Given the description of an element on the screen output the (x, y) to click on. 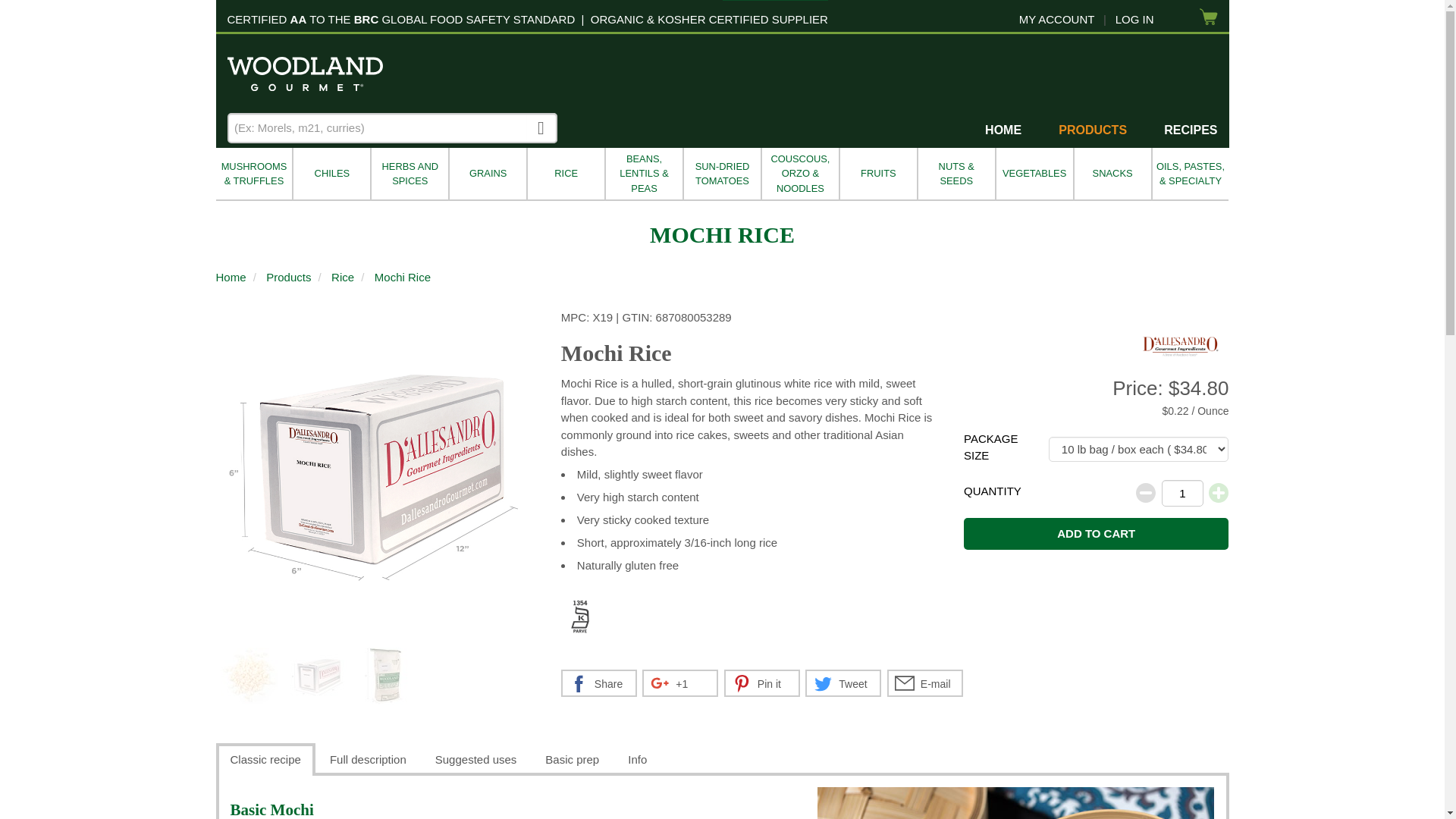
Products (288, 277)
Home (230, 277)
Share (598, 682)
BRC (365, 18)
SUN-DRIED TOMATOES (721, 174)
HERBS AND SPICES (408, 174)
SEARCH (541, 127)
GRAINS (486, 174)
Rice (342, 277)
